Given the description of an element on the screen output the (x, y) to click on. 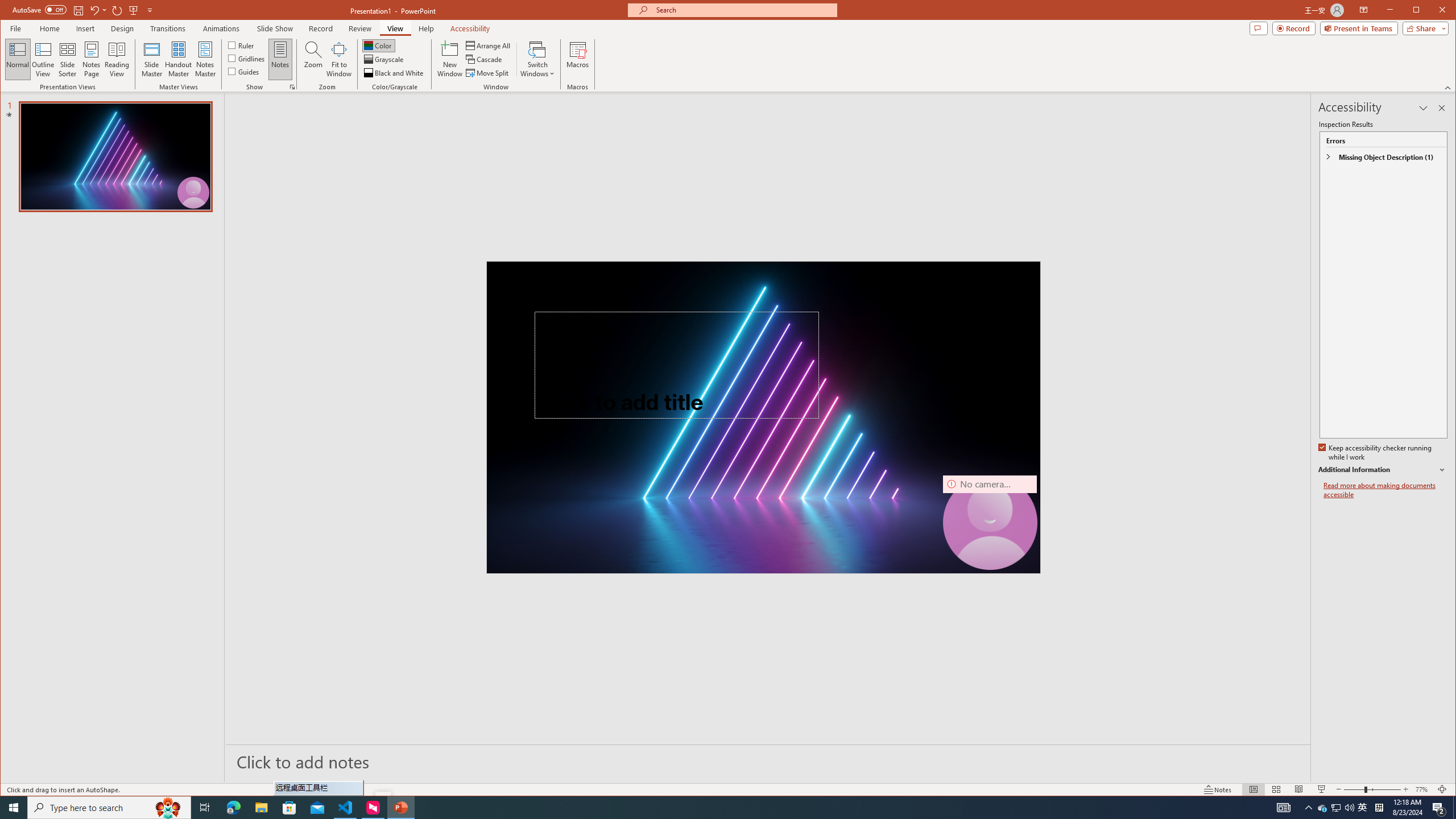
Fit to Window (338, 59)
